Given the description of an element on the screen output the (x, y) to click on. 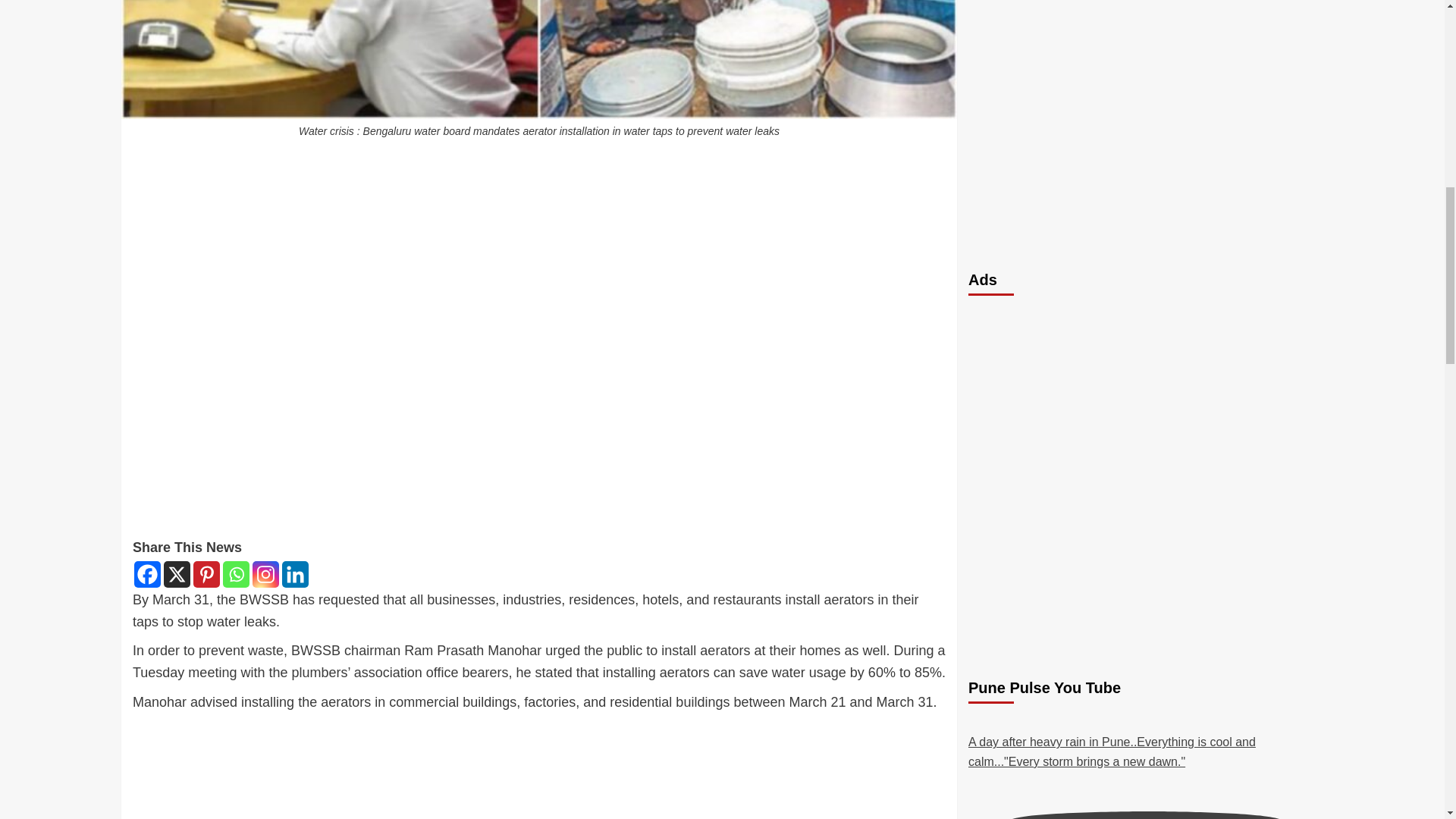
Pinterest (206, 574)
Instagram (265, 574)
Facebook (146, 574)
X (176, 574)
Linkedin (295, 574)
Whatsapp (235, 574)
